Given the description of an element on the screen output the (x, y) to click on. 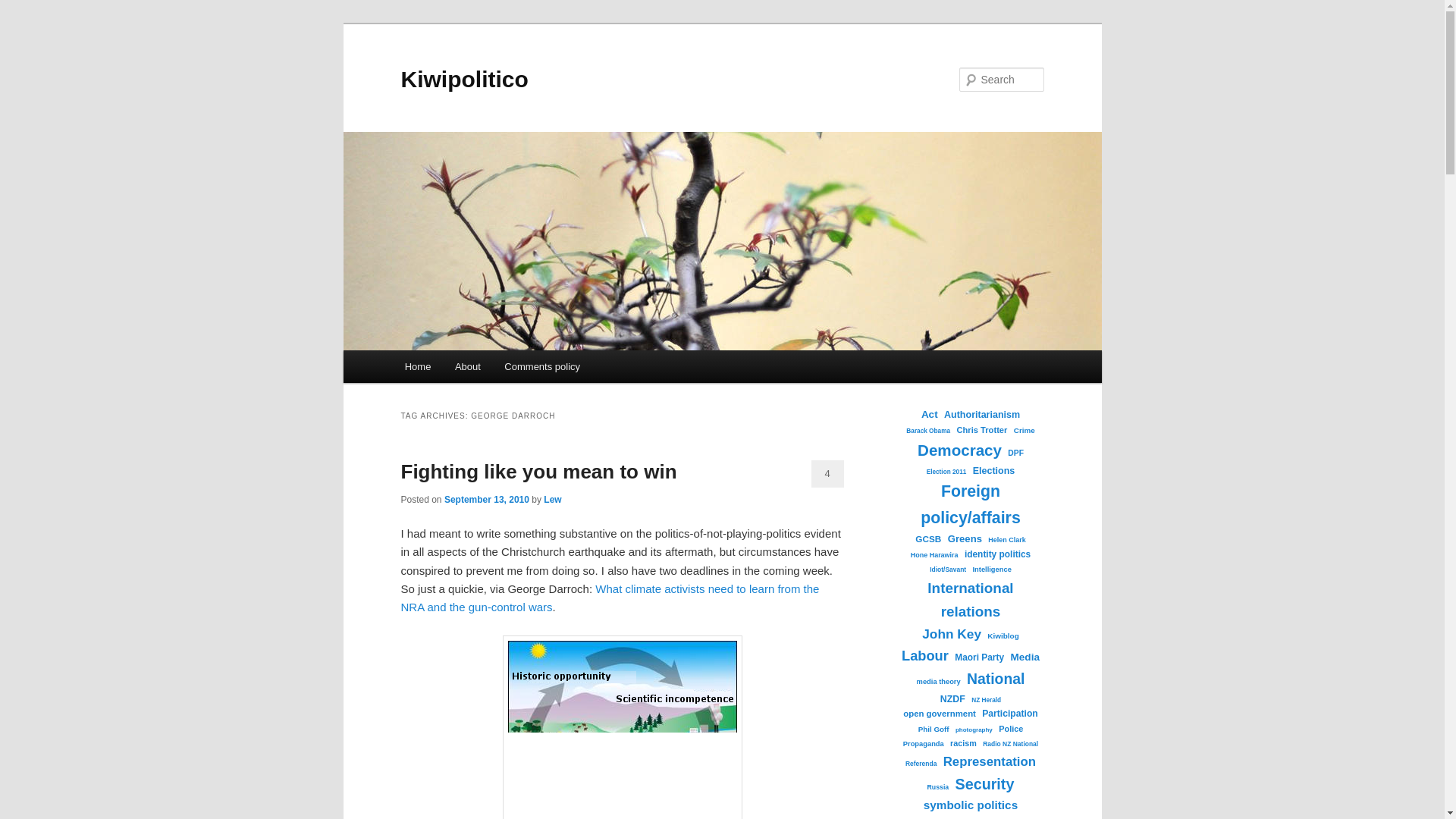
About (467, 366)
07:05 (486, 499)
4 (827, 473)
Lew (551, 499)
fail (621, 727)
Search (24, 8)
Comments policy (542, 366)
Kiwipolitico (463, 78)
September 13, 2010 (486, 499)
Fighting like you mean to win (538, 471)
View all posts by Lew (551, 499)
Home (417, 366)
